Given the description of an element on the screen output the (x, y) to click on. 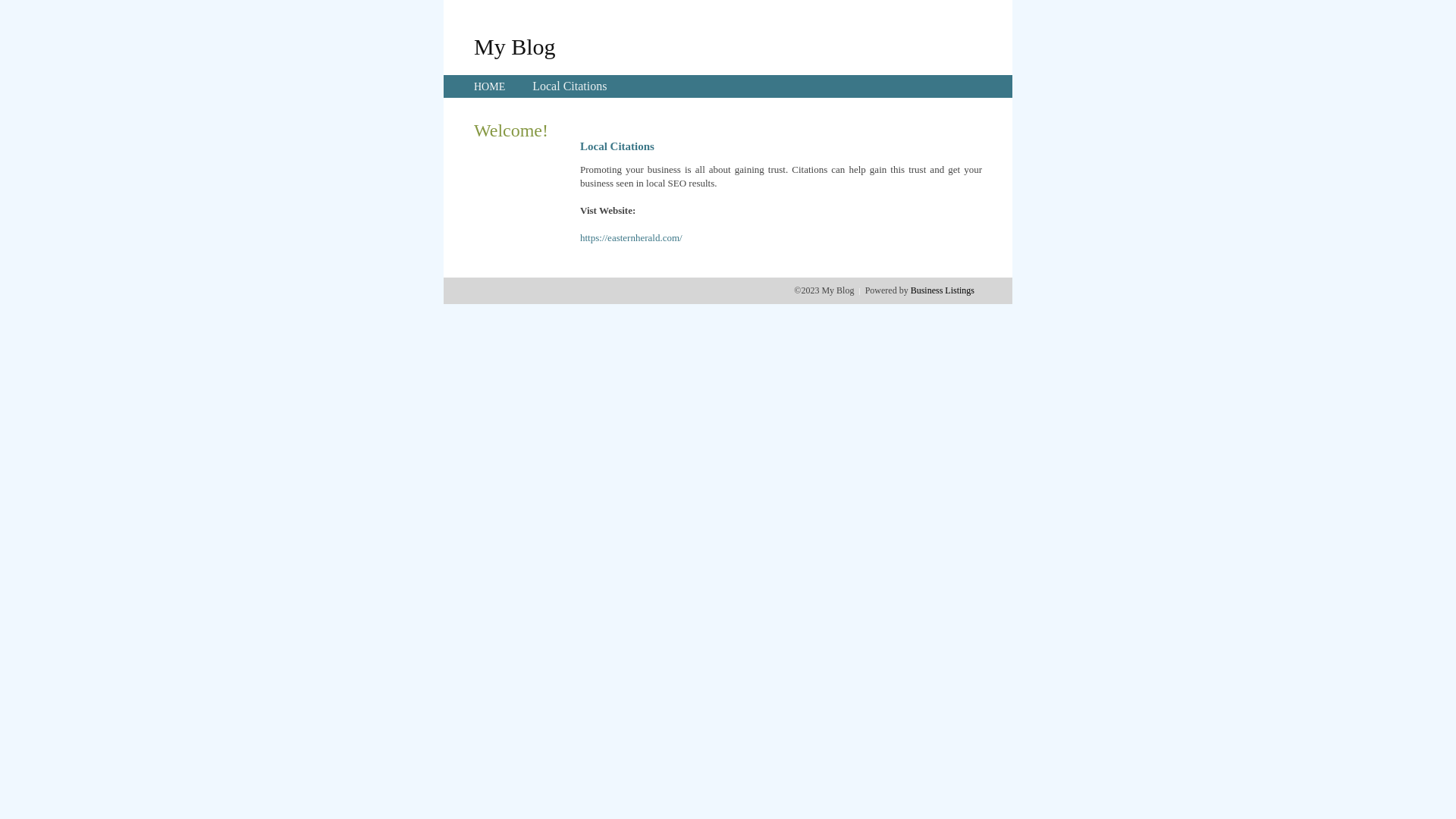
https://easternherald.com/ Element type: text (631, 237)
My Blog Element type: text (514, 46)
Business Listings Element type: text (942, 290)
Local Citations Element type: text (569, 85)
HOME Element type: text (489, 86)
